Given the description of an element on the screen output the (x, y) to click on. 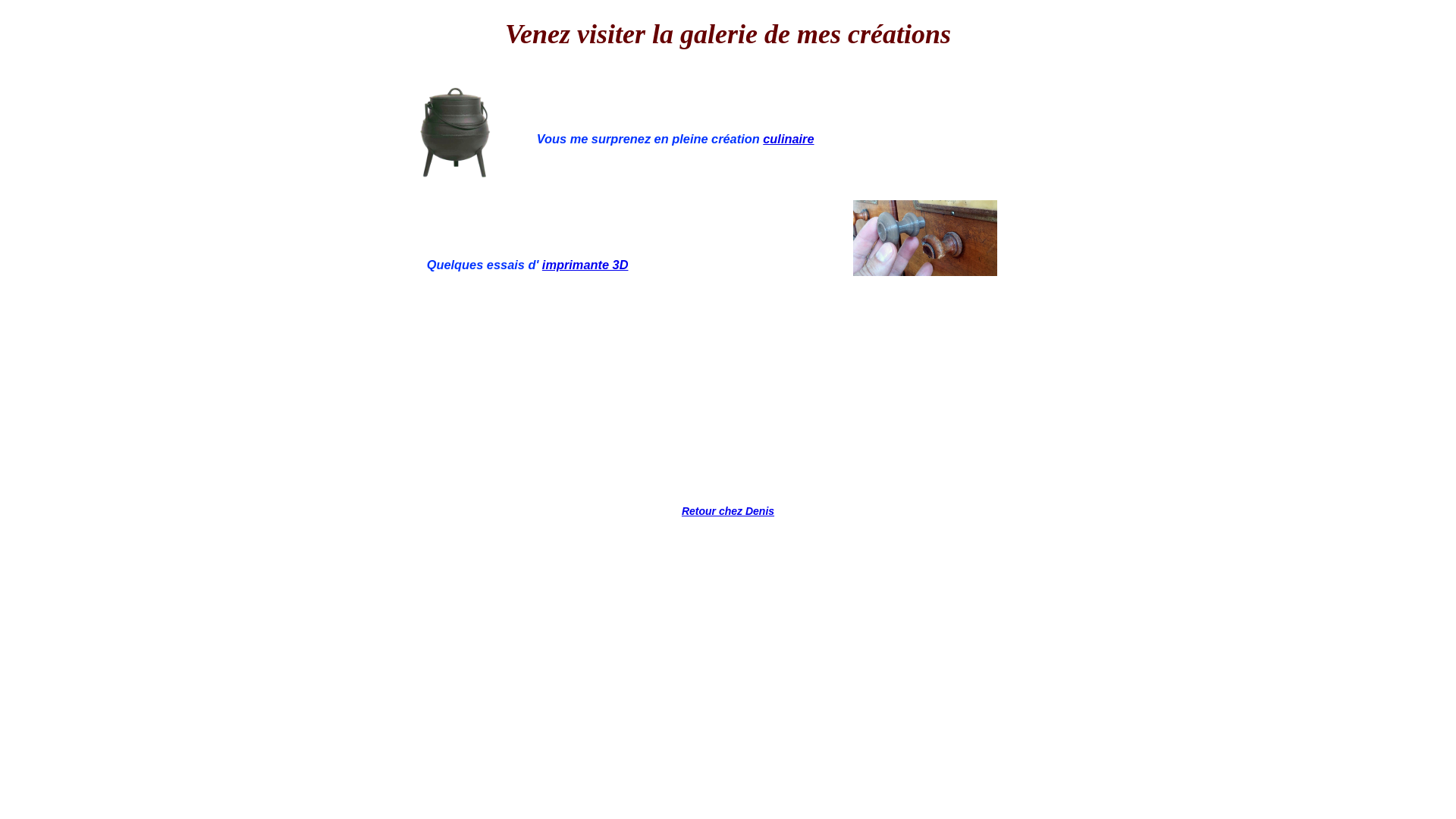
imprimante 3D Element type: text (585, 264)
culinaire Element type: text (787, 138)
Retour chez Denis Element type: text (727, 511)
